Given the description of an element on the screen output the (x, y) to click on. 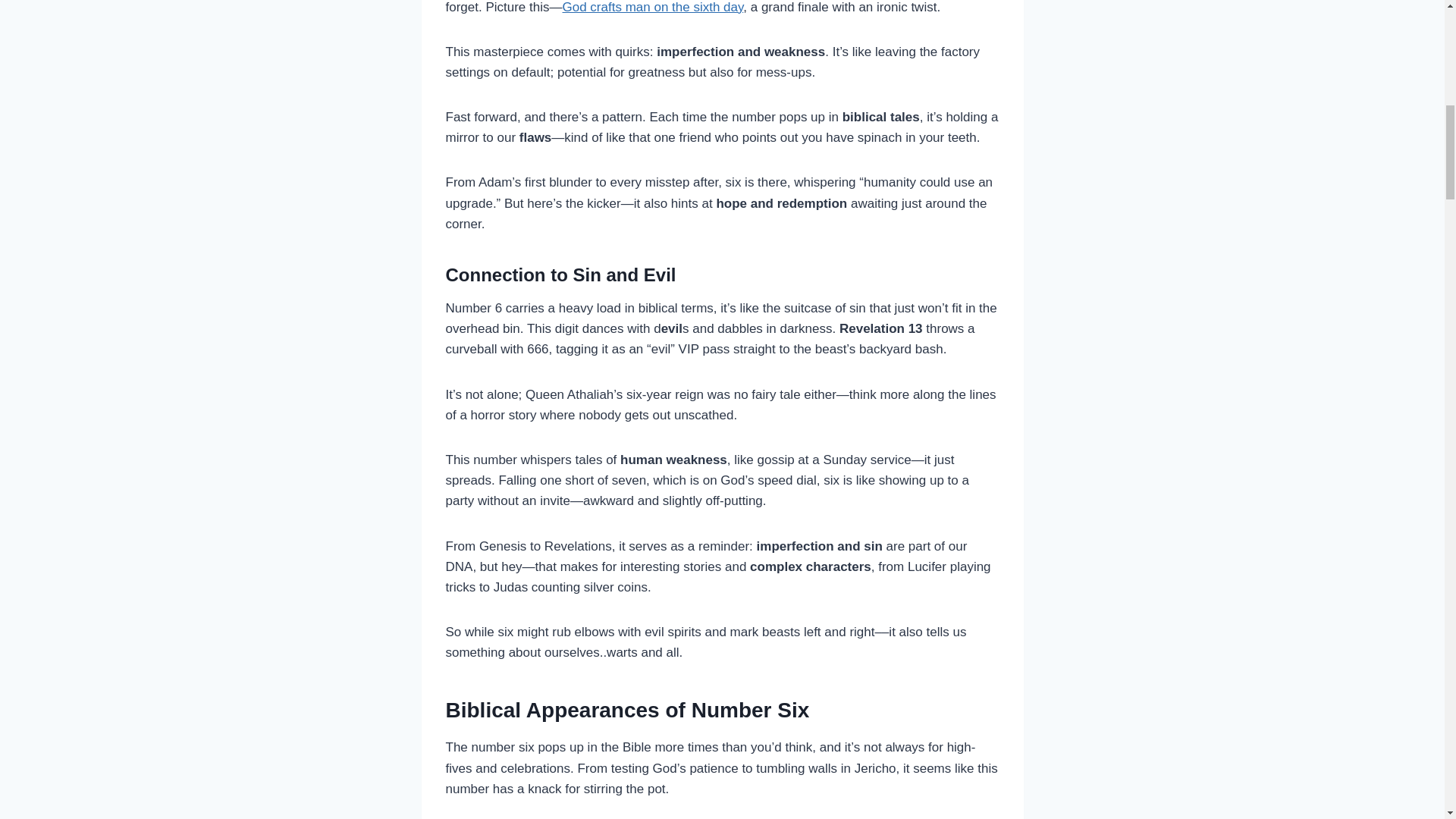
God crafts man on the sixth day (653, 7)
